Given the description of an element on the screen output the (x, y) to click on. 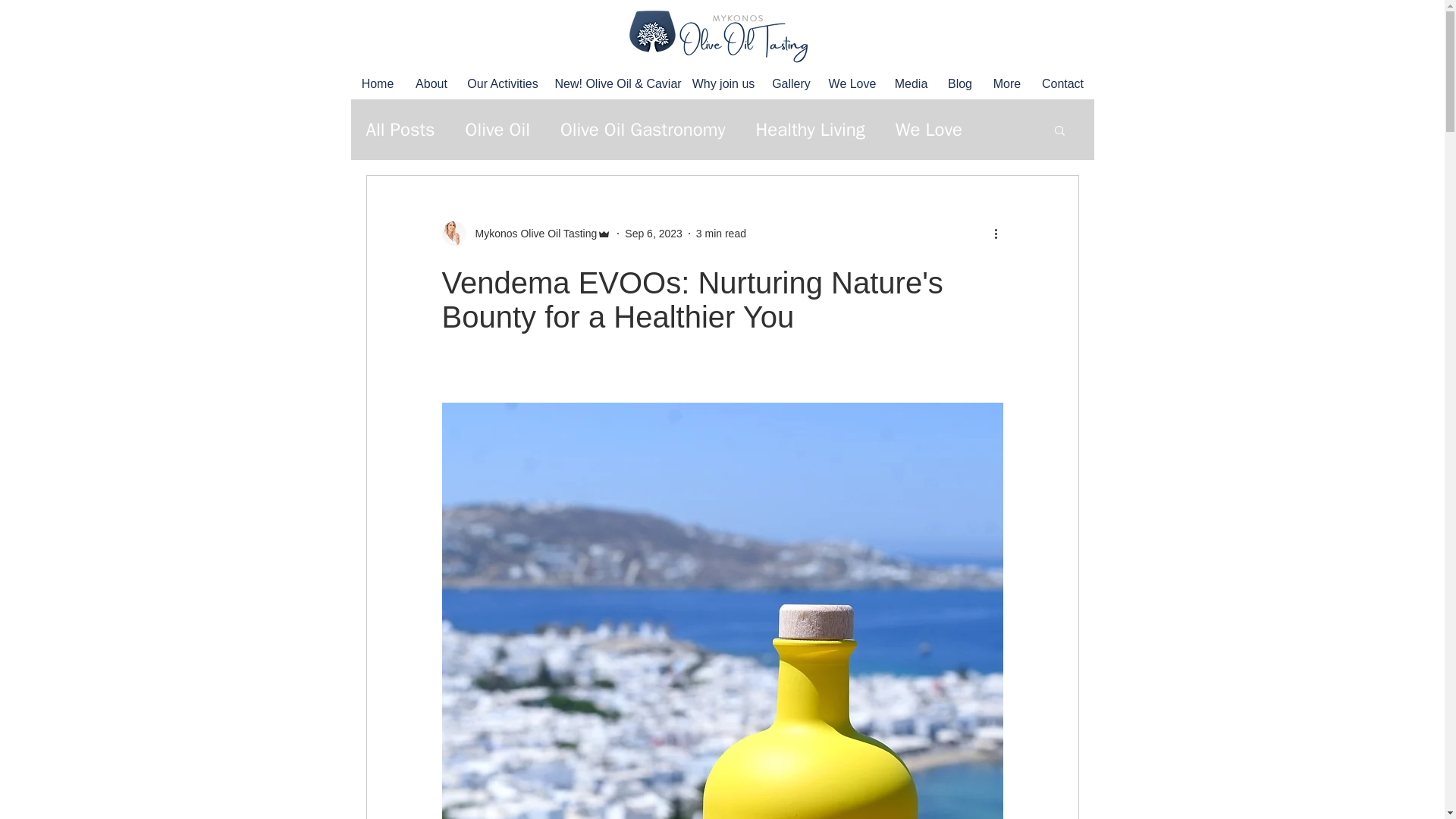
Home (377, 83)
We Love (853, 83)
Blog (959, 83)
All Posts (399, 129)
Mykonos Olive Oil Tasting (530, 233)
Mykonos Olive Oil Tasting (526, 233)
Olive Oil Gastronomy (642, 129)
3 min read (720, 233)
Why join us (722, 83)
Sep 6, 2023 (653, 233)
